Given the description of an element on the screen output the (x, y) to click on. 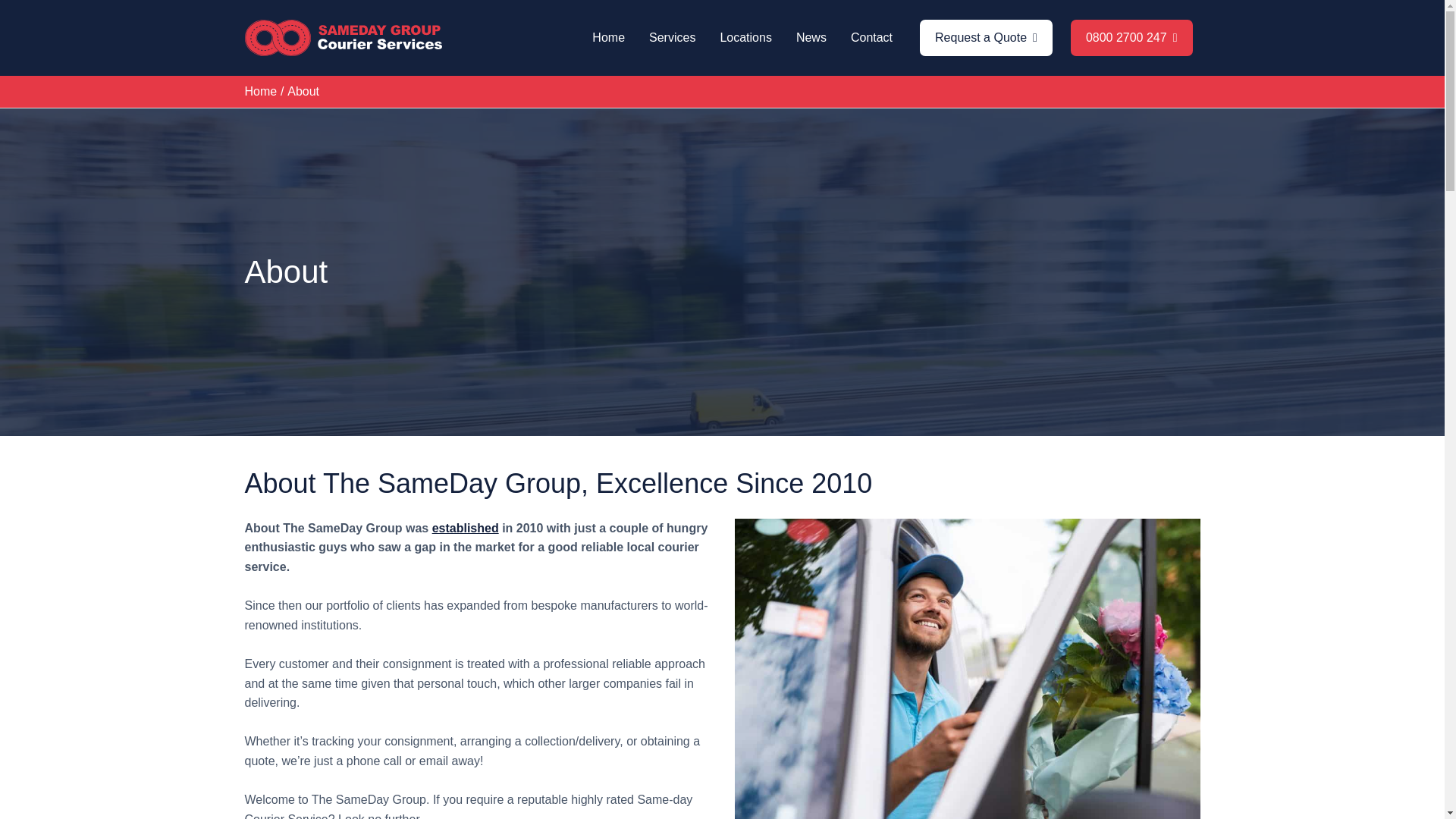
established (465, 527)
Request a Quote (986, 37)
Services (672, 38)
Home (260, 91)
0800 2700 247 (1131, 37)
Locations (745, 38)
